Given the description of an element on the screen output the (x, y) to click on. 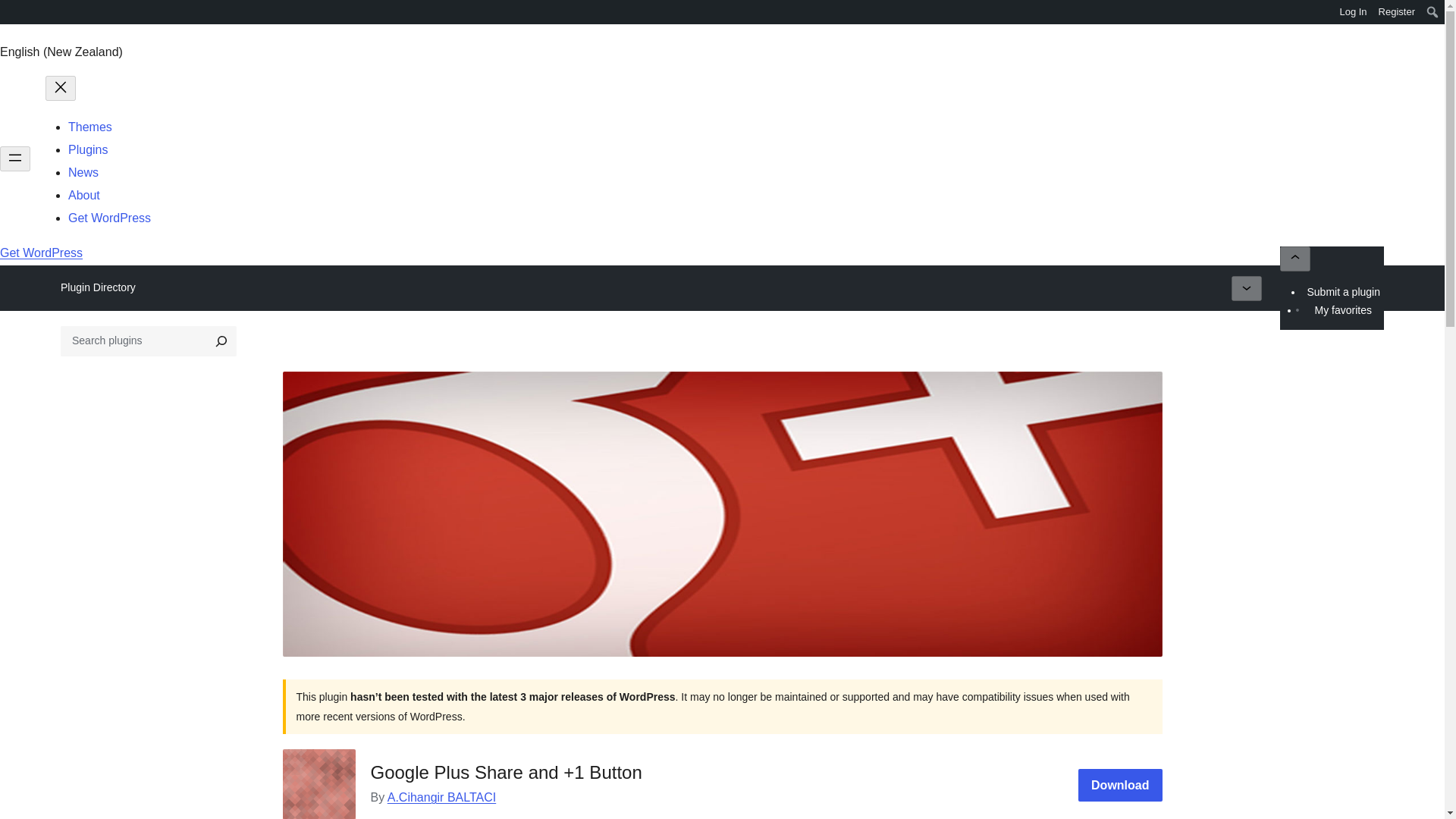
WordPress.org (10, 10)
Register (1397, 12)
Log In (1353, 12)
Search (16, 13)
WordPress.org (10, 14)
Submit a plugin (1343, 291)
About (84, 195)
News (83, 172)
Plugin Directory (97, 287)
Download (1119, 785)
Themes (90, 126)
Get WordPress (41, 252)
Plugins (87, 149)
A.Cihangir BALTACI (441, 797)
Get WordPress (109, 217)
